Given the description of an element on the screen output the (x, y) to click on. 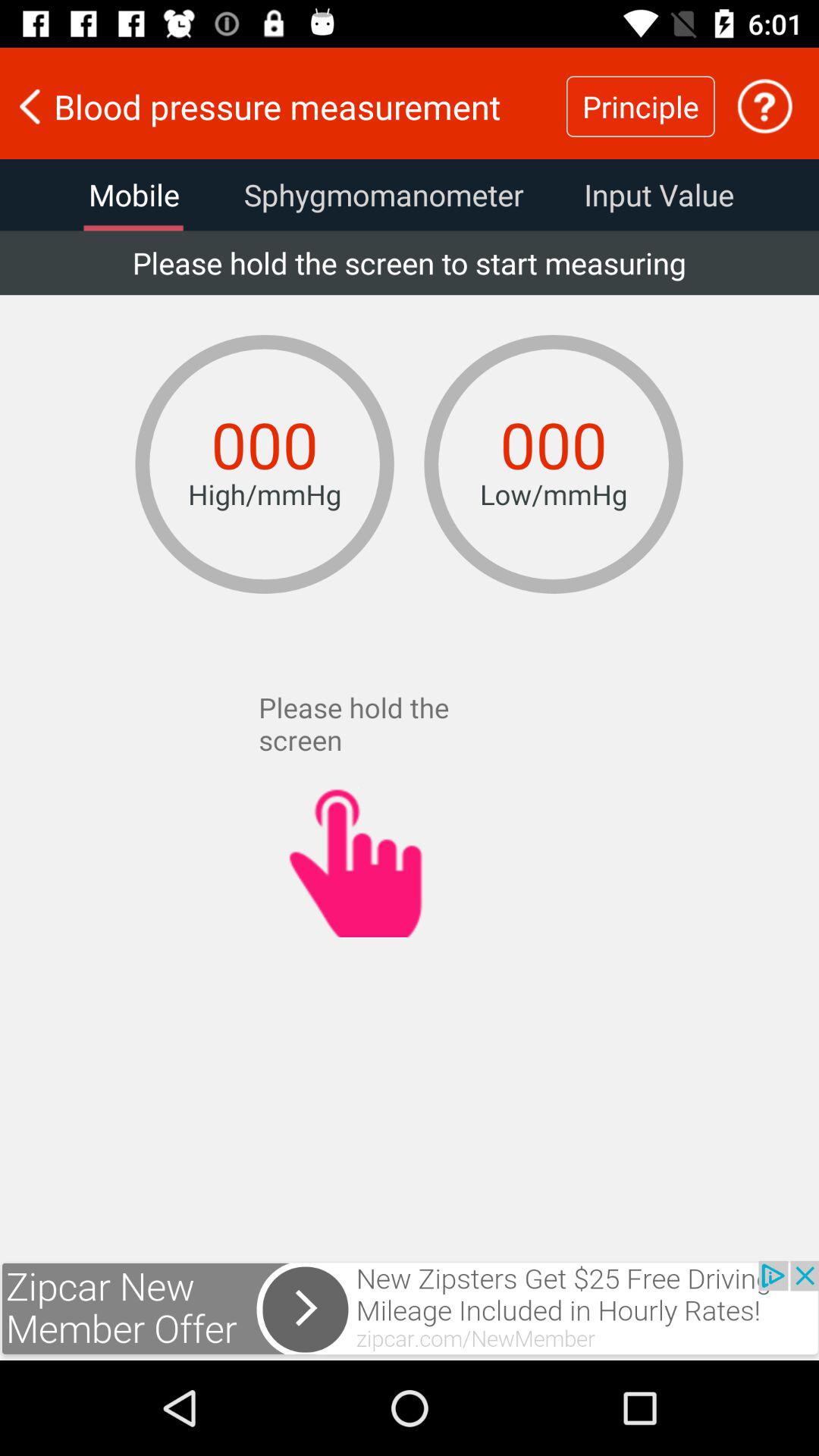
advirtisment (409, 1310)
